Given the description of an element on the screen output the (x, y) to click on. 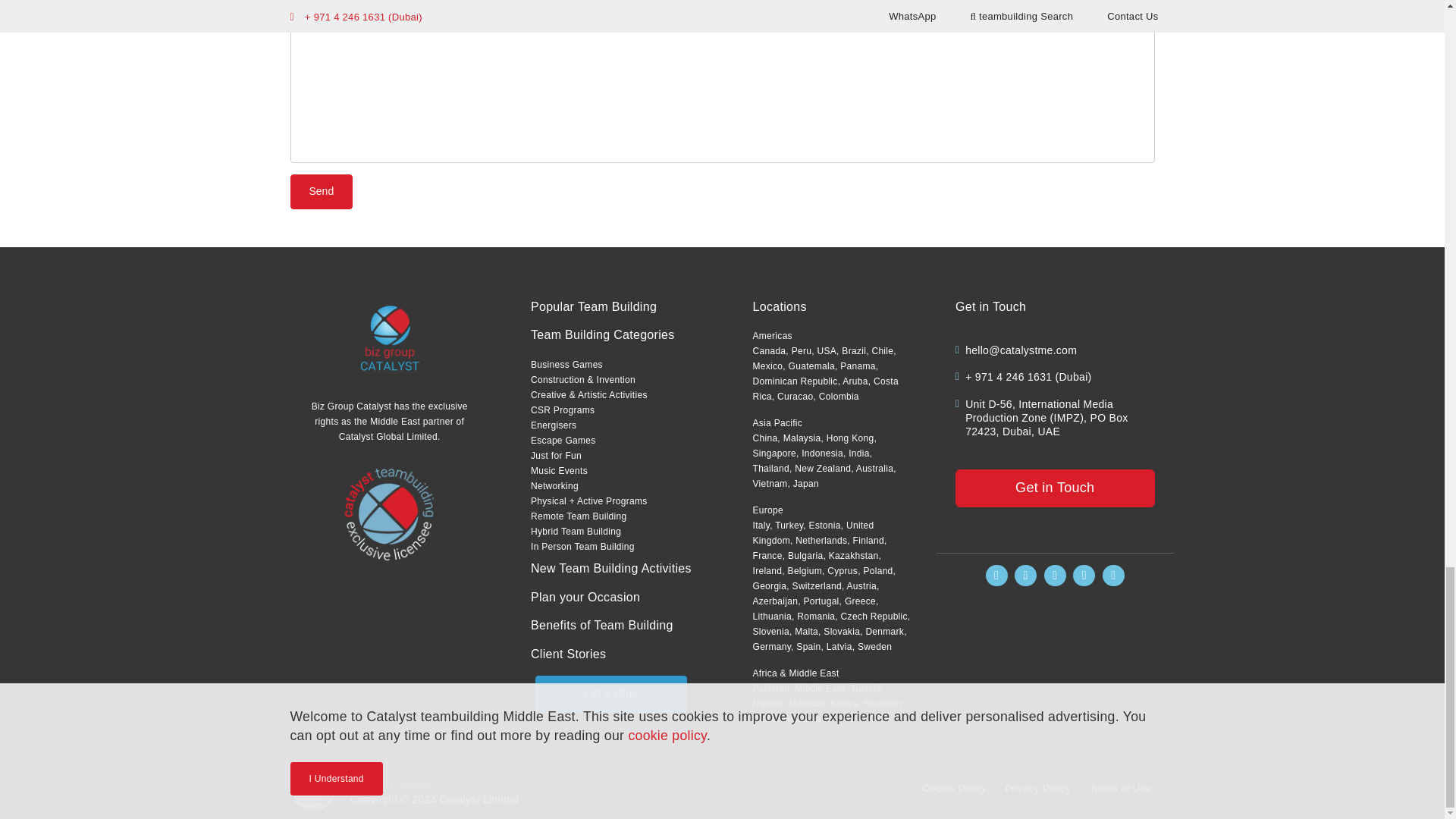
Find us on Linkedin (1054, 576)
Watch us on Youtube (1113, 576)
Follow us on Twitter (1083, 576)
Find us on Facebook (996, 576)
CSR Programs (562, 409)
Business Games (566, 364)
Follow us on Instagram (1025, 576)
Popular Team Building (593, 306)
Energisers (553, 425)
Escape Games (563, 439)
Send (320, 191)
Team Building Categories (603, 334)
